Given the description of an element on the screen output the (x, y) to click on. 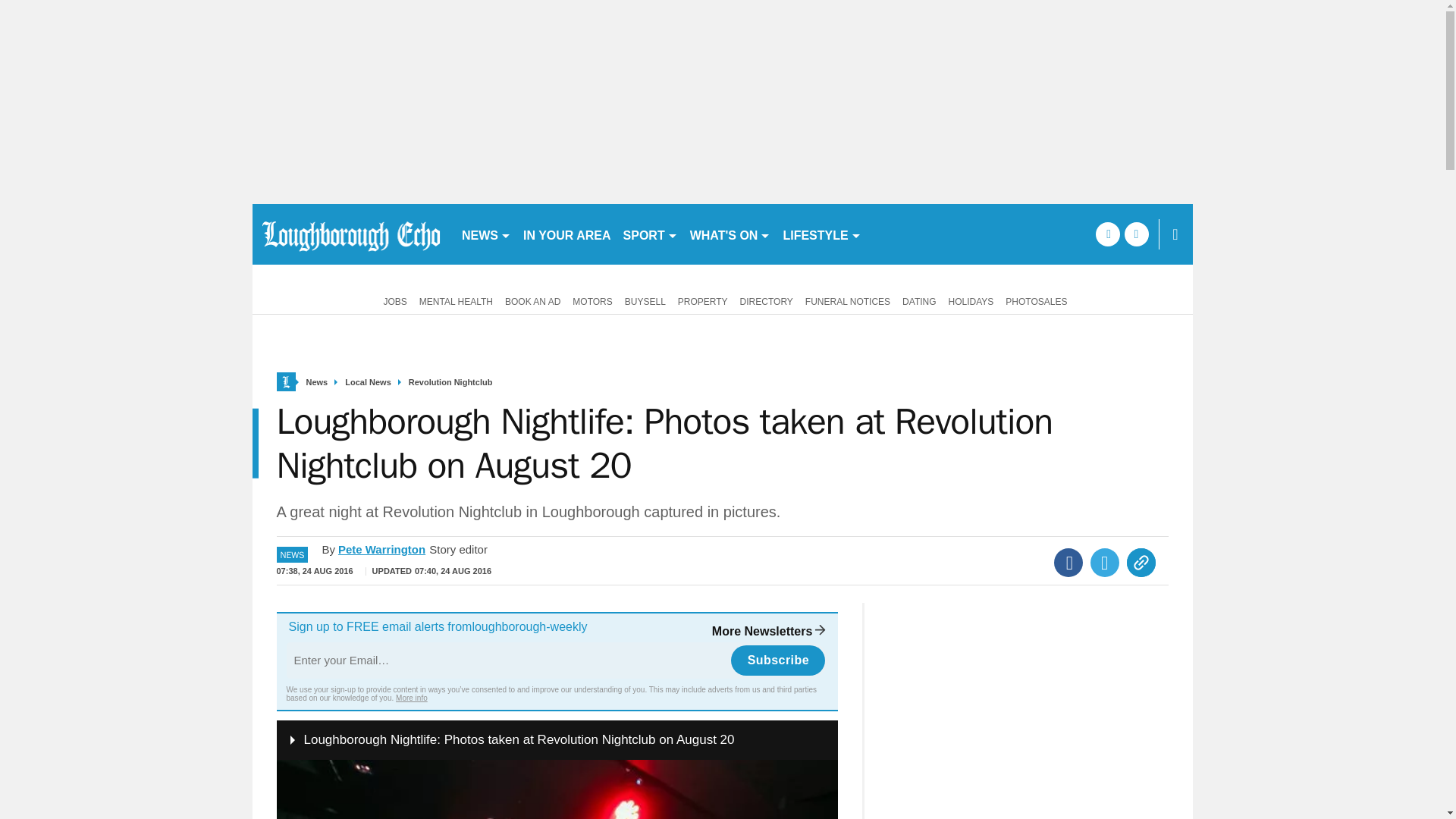
Twitter (1104, 562)
IN YOUR AREA (566, 233)
SPORT (650, 233)
LIFESTYLE (821, 233)
BUYSELL (644, 300)
WHAT'S ON (730, 233)
Facebook (1068, 562)
facebook (1106, 233)
NEWS (485, 233)
PROPERTY (702, 300)
twitter (1136, 233)
BOOK AN AD (532, 300)
JOBS (392, 300)
MOTORS (591, 300)
MENTAL HEALTH (456, 300)
